Given the description of an element on the screen output the (x, y) to click on. 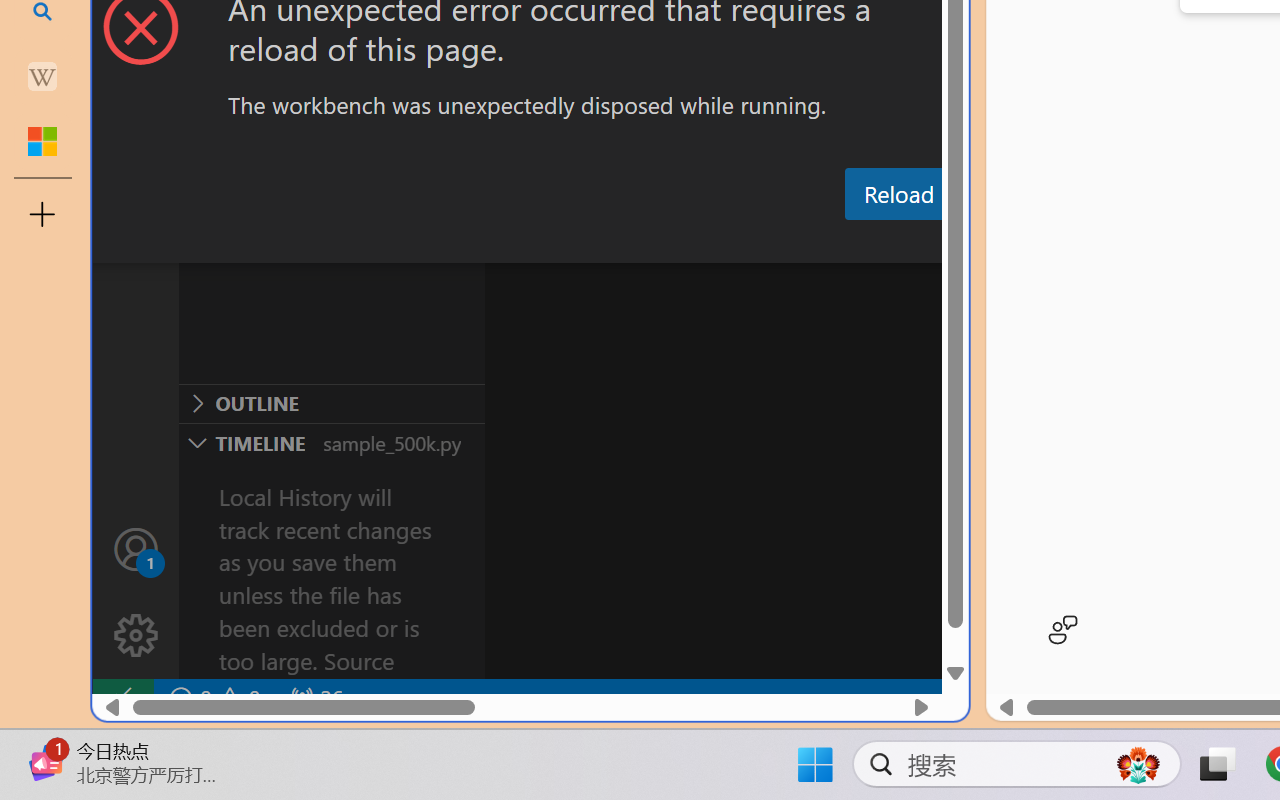
Output (Ctrl+Shift+U) (696, 243)
Problems (Ctrl+Shift+M) (567, 243)
remote (122, 698)
